Given the description of an element on the screen output the (x, y) to click on. 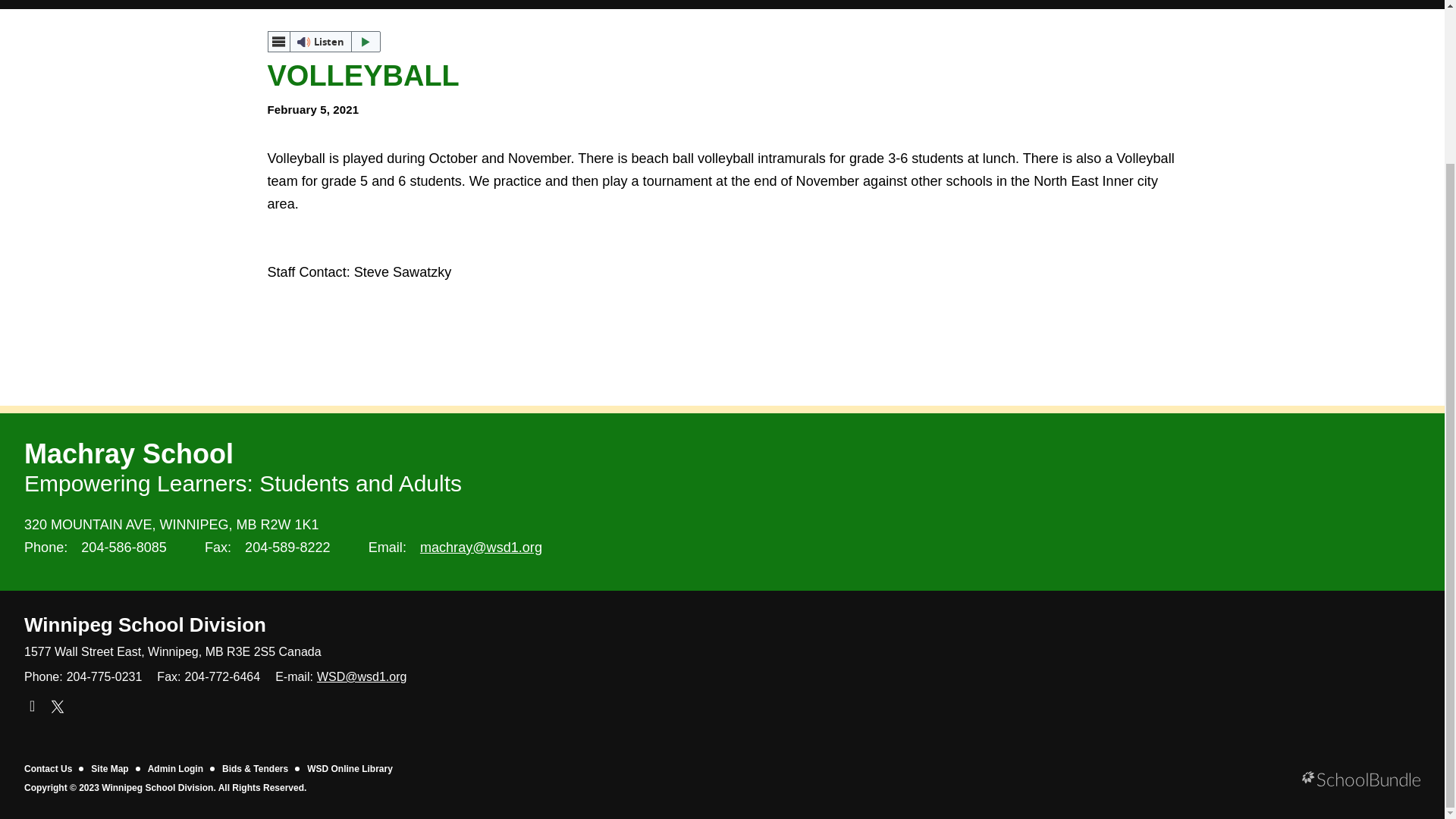
webReader menu (277, 41)
Listen to this page using ReadSpeaker webReader (323, 41)
